Given the description of an element on the screen output the (x, y) to click on. 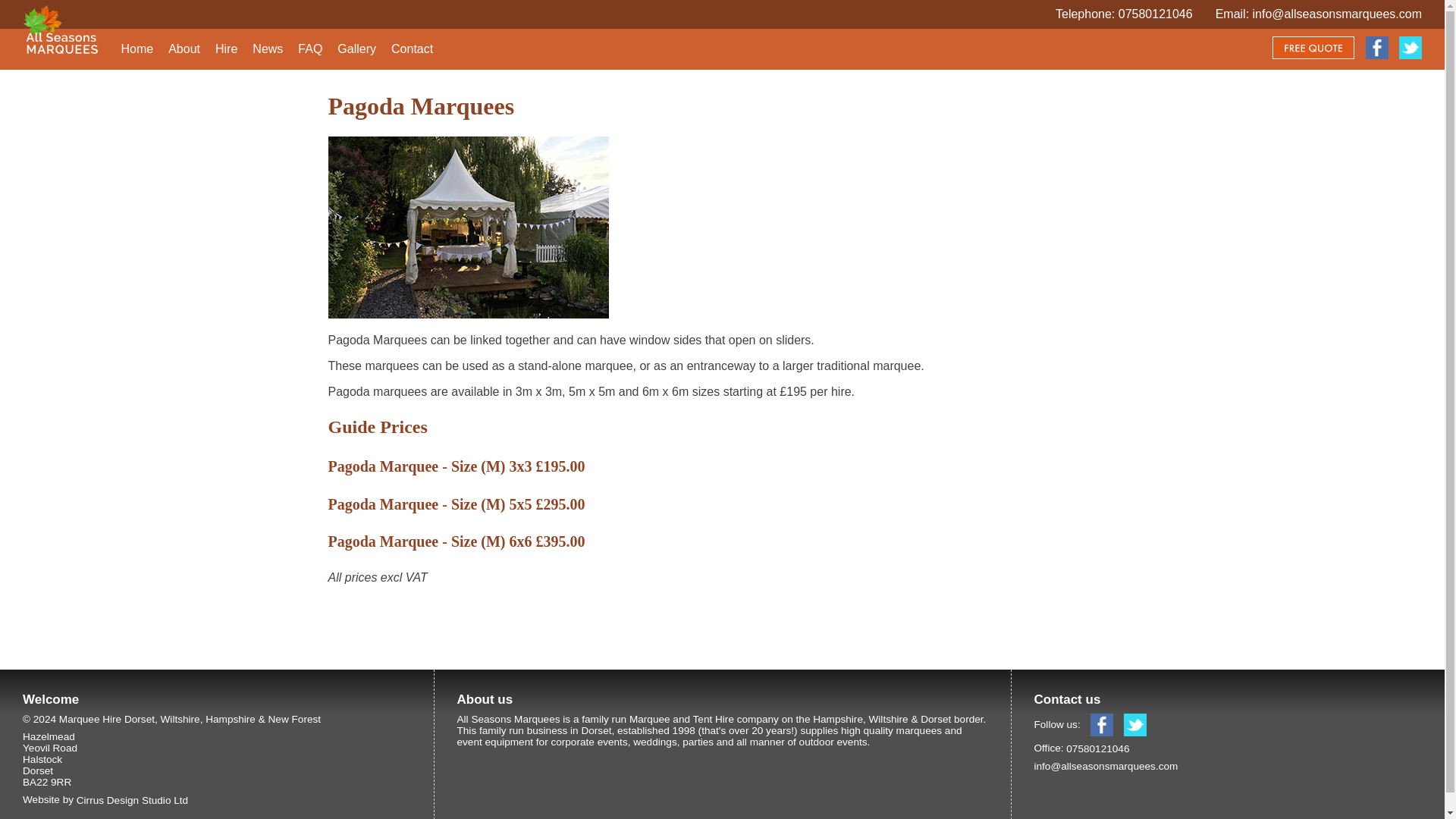
07580121046 (1155, 13)
Go to News (266, 48)
Go to About (184, 48)
Office telephone number (1155, 13)
Go to home page (136, 48)
Gallery (356, 48)
07580121046 (1097, 748)
News (266, 48)
About (184, 48)
Go to Hire (226, 48)
FAQ (309, 48)
Home (136, 48)
Contact (411, 48)
Cirrus Design Studio Ltd (132, 799)
Hire (226, 48)
